Given the description of an element on the screen output the (x, y) to click on. 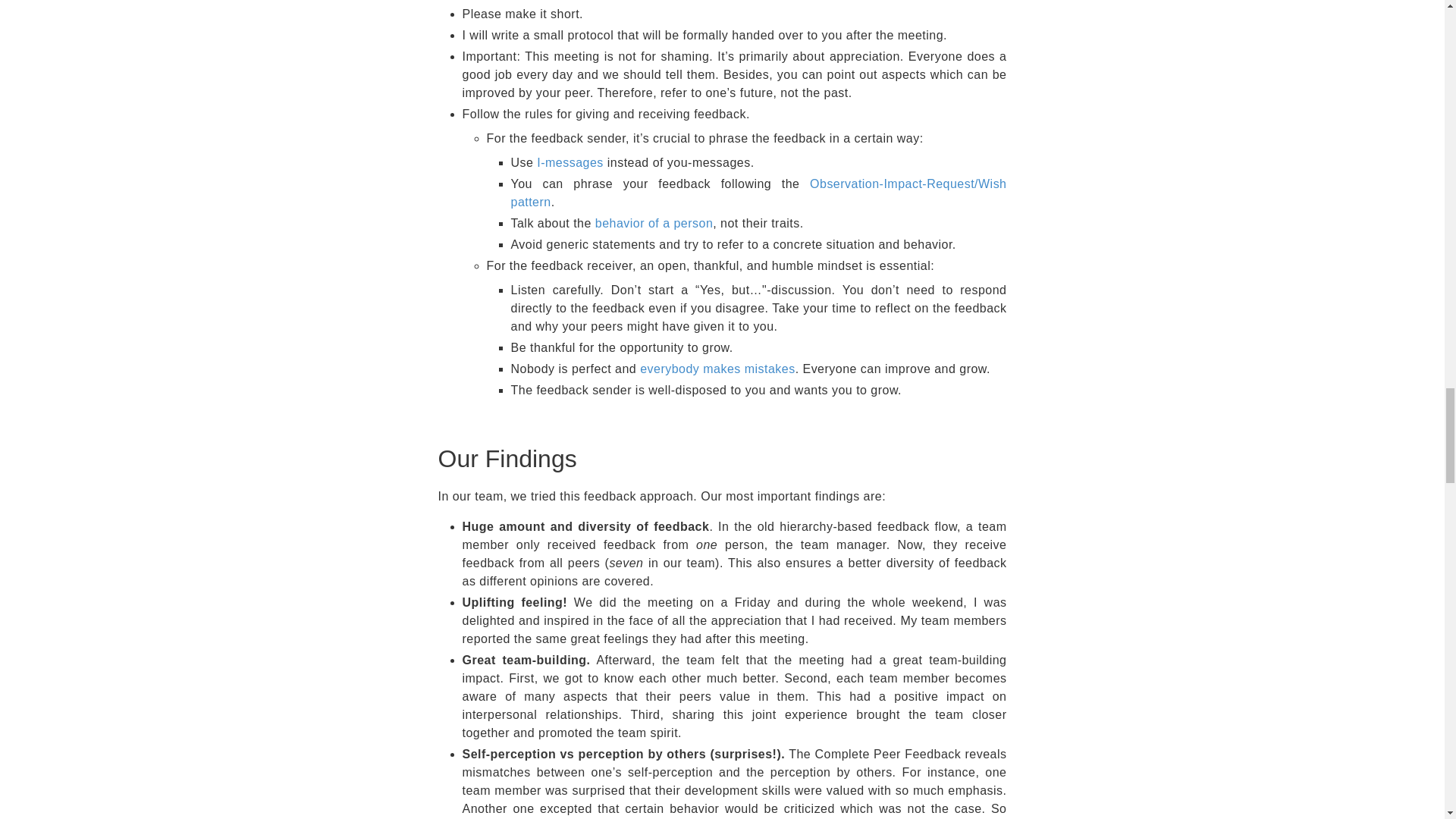
everybody makes mistakes (717, 368)
behavior of a person (654, 223)
I-messages (570, 162)
